Given the description of an element on the screen output the (x, y) to click on. 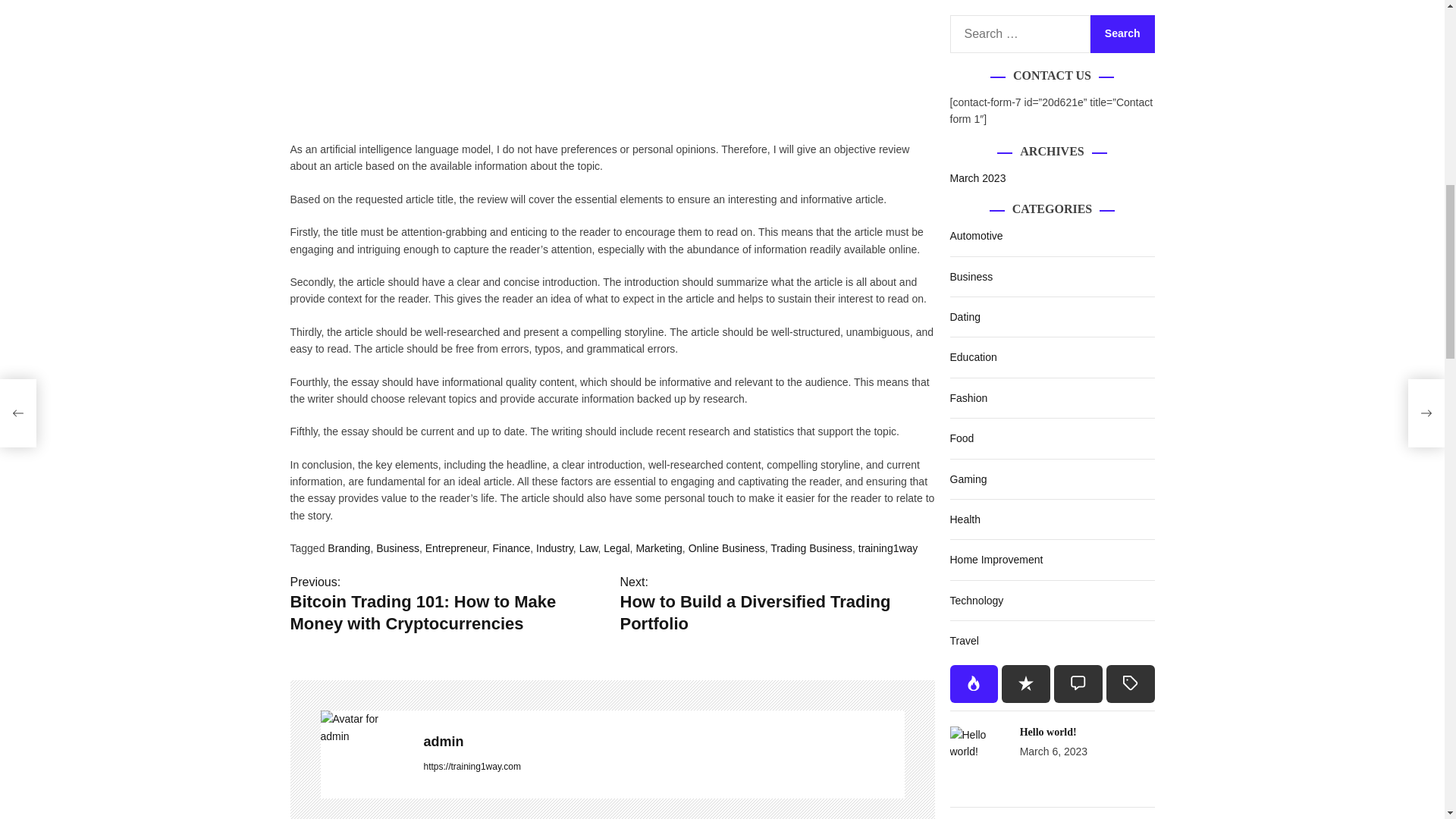
admin (663, 741)
admin (363, 727)
